Given the description of an element on the screen output the (x, y) to click on. 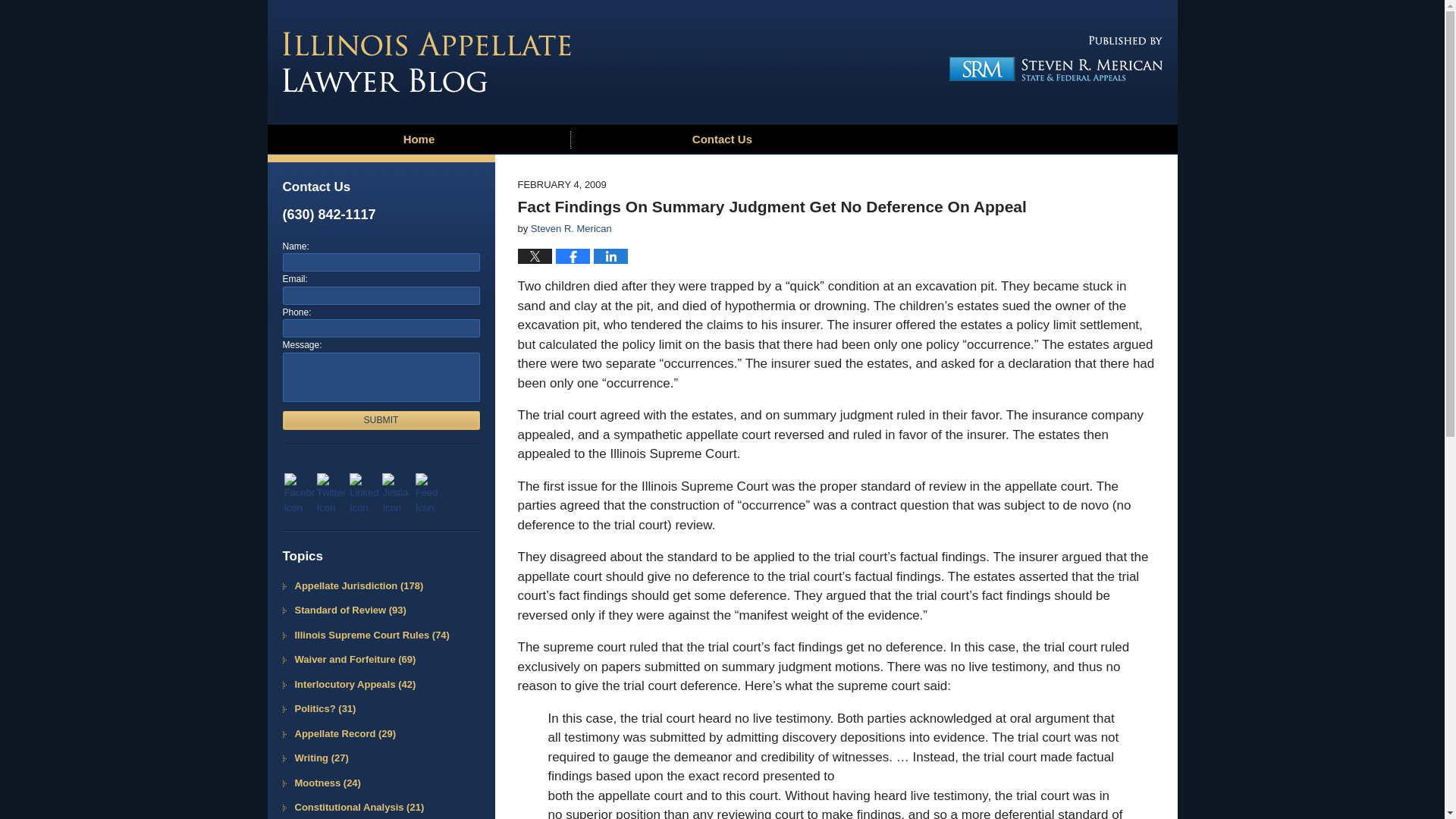
SUBMIT (380, 420)
Published By Steven R. Merican (1050, 58)
Please enter a valid phone number. (380, 328)
Illinois Appellate Lawyer Blog (426, 61)
Steven R. Merican (571, 228)
Contact Us (721, 138)
Home (418, 138)
